Given the description of an element on the screen output the (x, y) to click on. 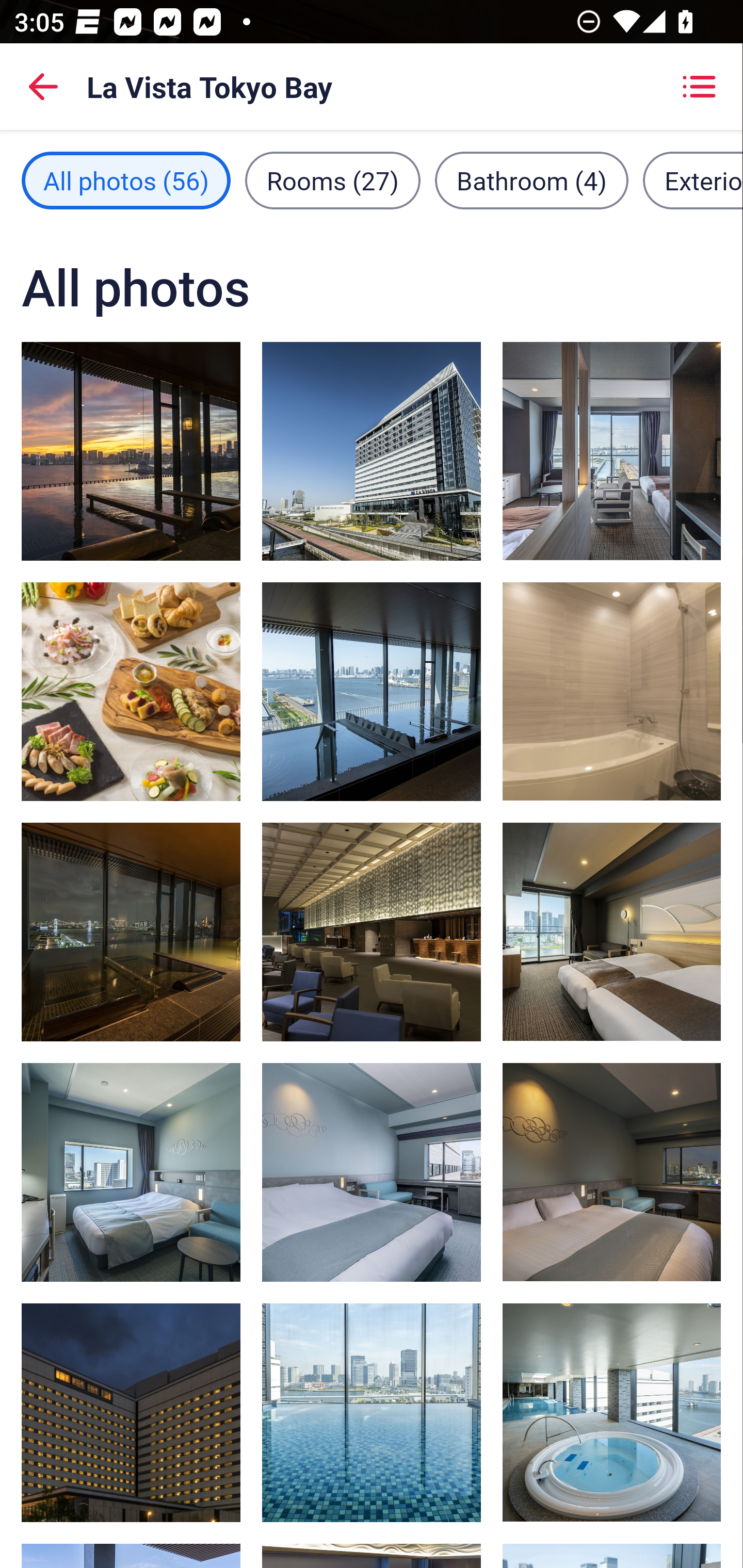
Back (43, 86)
Showing grid view (699, 86)
All photos filter, 56 images (125, 180)
Rooms filter, 27 images (332, 180)
Bathroom filter, 4 images (531, 180)
Hot springs, image (130, 451)
Exterior, image (371, 451)
Public bath, image (371, 691)
Public bath, image (130, 932)
Lobby, image (371, 932)
Exterior, image (130, 1412)
Indoor pool, image (371, 1412)
Indoor pool, image (611, 1411)
